Given the description of an element on the screen output the (x, y) to click on. 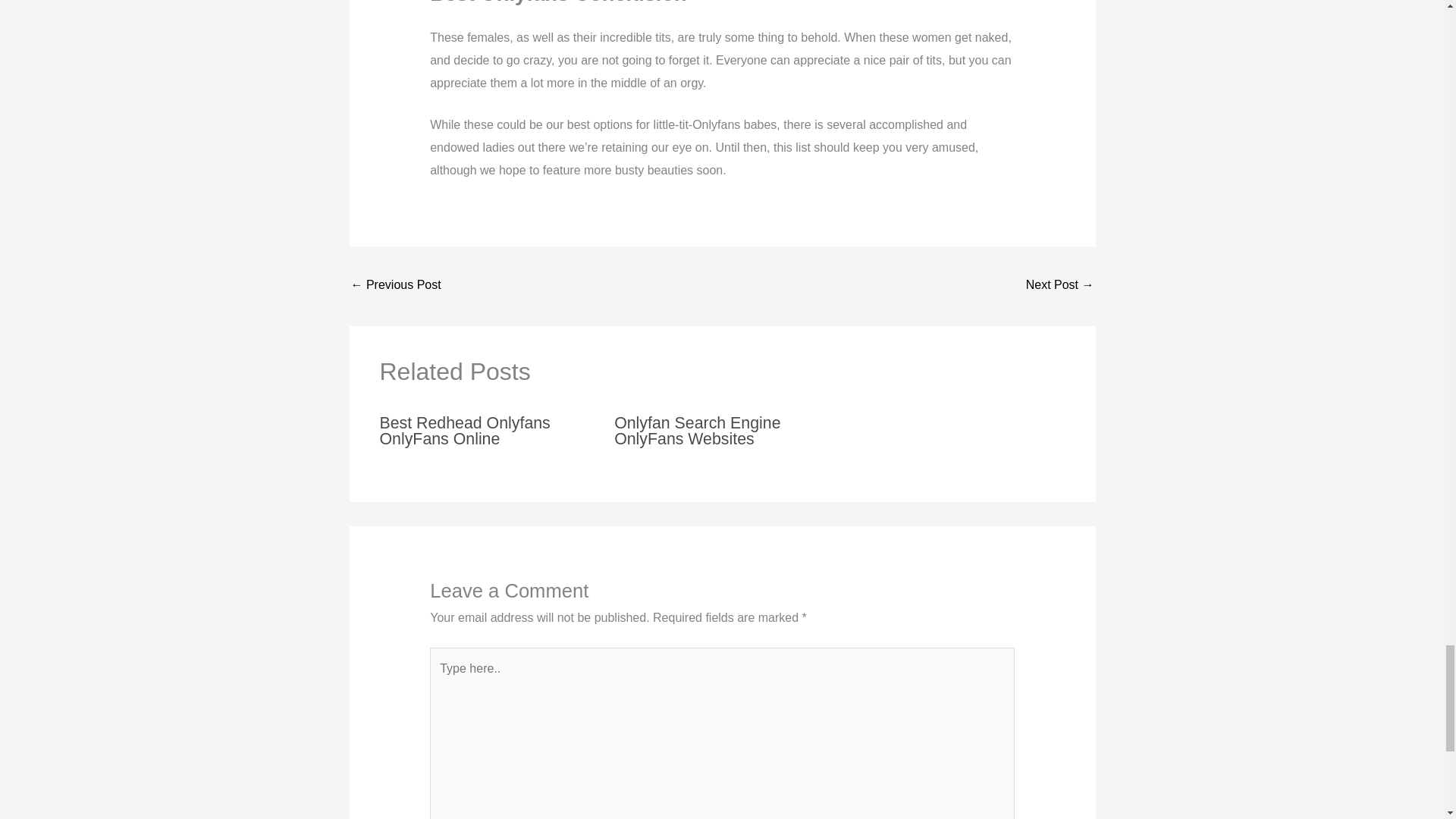
Best Redhead Onlyfans OnlyFans Online (464, 430)
Most Popular Male Onlyfans OnlyFans  Online (1060, 285)
Onlyfan Search Engine OnlyFans Websites (697, 430)
Live Roulette Incentive: Everything You Required to Know (395, 285)
